Given the description of an element on the screen output the (x, y) to click on. 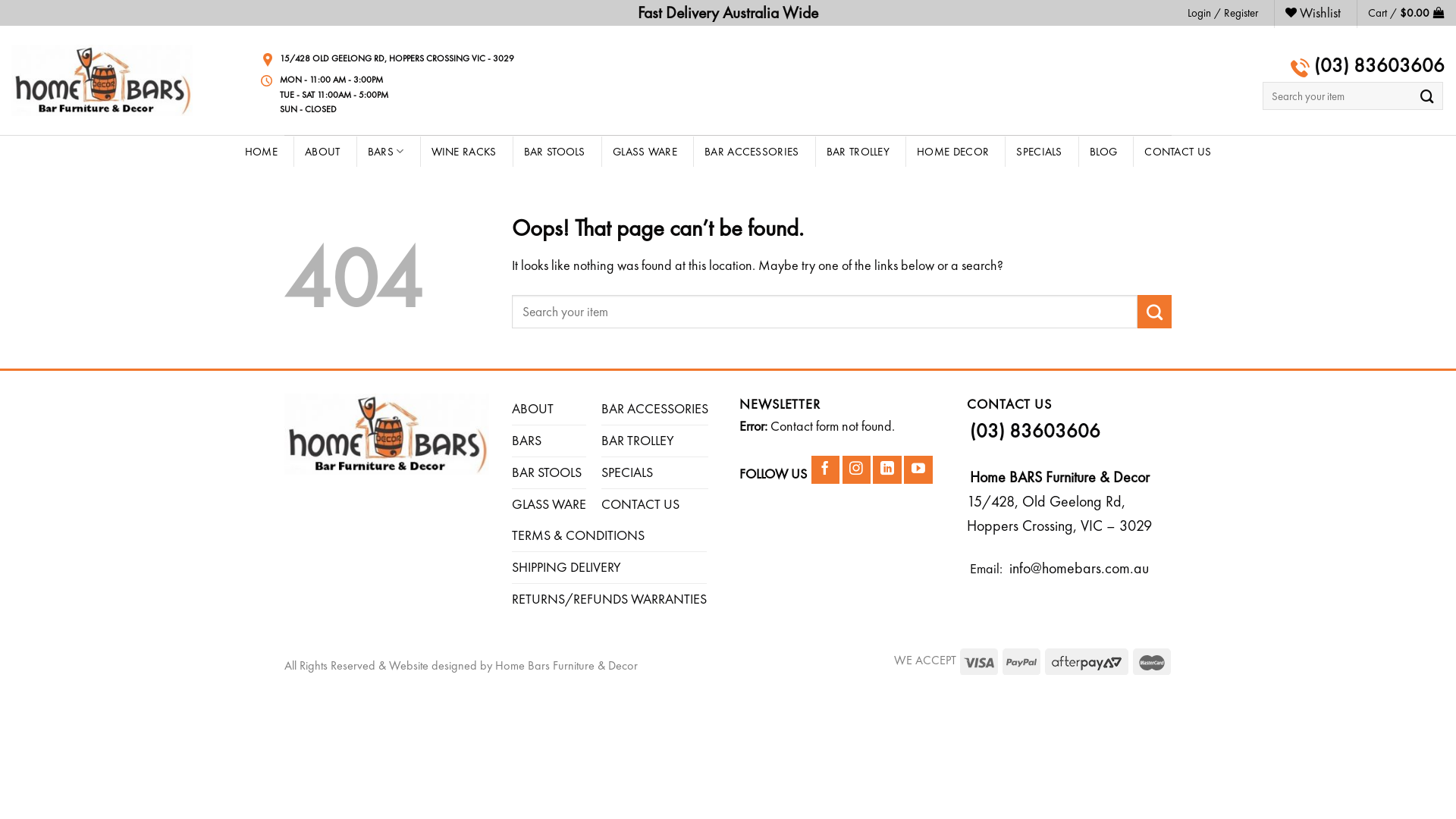
SHIPPING DELIVERY Element type: text (566, 567)
BAR ACCESSORIES Element type: text (654, 408)
15/428 OLD GEELONG RD, HOPPERS CROSSING VIC - 3029 Element type: text (396, 58)
(03) 83603606 Element type: text (1034, 432)
ABOUT Element type: text (532, 408)
BARS Element type: text (385, 151)
BAR TROLLEY Element type: text (637, 440)
SPECIALS Element type: text (1038, 151)
HOME DECOR Element type: text (952, 151)
ABOUT Element type: text (322, 151)
TERMS & CONDITIONS Element type: text (577, 535)
CONTACT US Element type: text (1177, 151)
(03) 83603606 Element type: text (1376, 65)
WINE RACKS Element type: text (463, 151)
BARS Element type: text (526, 440)
info@homebars.com.au Element type: text (1076, 567)
GLASS WARE Element type: text (644, 151)
Home Bars - Home BARS Bar Furniture & Decor Element type: hover (101, 80)
BLOG Element type: text (1103, 151)
GLASS WARE Element type: text (548, 504)
CONTACT US Element type: text (640, 504)
BAR ACCESSORIES Element type: text (751, 151)
Login / Register Element type: text (1222, 12)
 Email:  Element type: text (985, 568)
BAR STOOLS Element type: text (554, 151)
SPECIALS Element type: text (626, 472)
HOME Element type: text (260, 151)
RETURNS/REFUNDS WARRANTIES Element type: text (608, 599)
Cart / $0.00 Element type: text (1406, 12)
BAR STOOLS Element type: text (546, 472)
BAR TROLLEY Element type: text (857, 151)
